Given the description of an element on the screen output the (x, y) to click on. 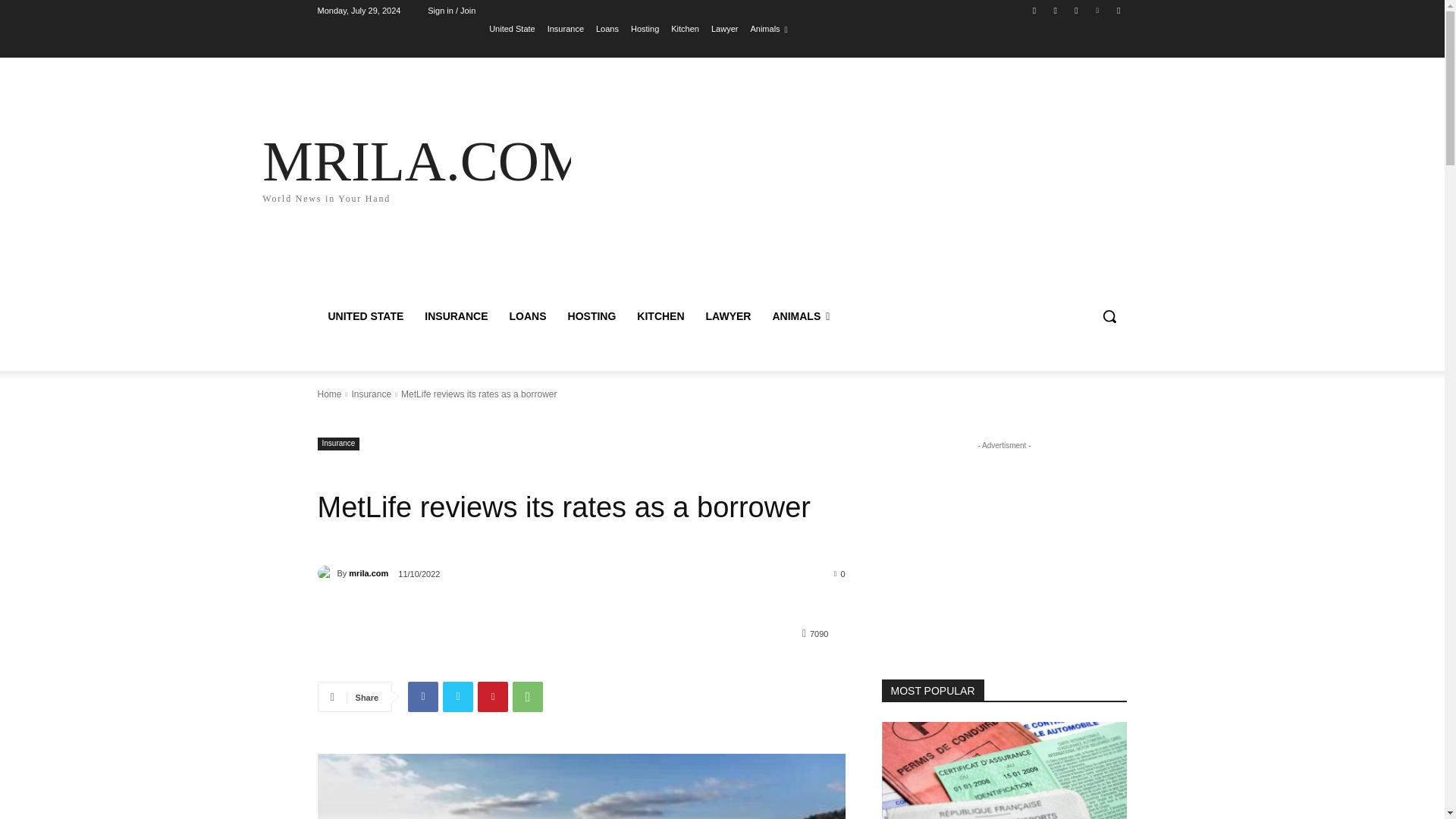
INSURANCE (455, 316)
LOANS (528, 316)
View all posts in Insurance (370, 394)
ANIMALS (800, 316)
Facebook (1034, 9)
HOSTING (592, 316)
Animals (768, 28)
United State (512, 28)
Twitter (425, 166)
Pinterest (457, 696)
Kitchen (492, 696)
Twitter (684, 28)
UNITED STATE (1075, 9)
KITCHEN (365, 316)
